Given the description of an element on the screen output the (x, y) to click on. 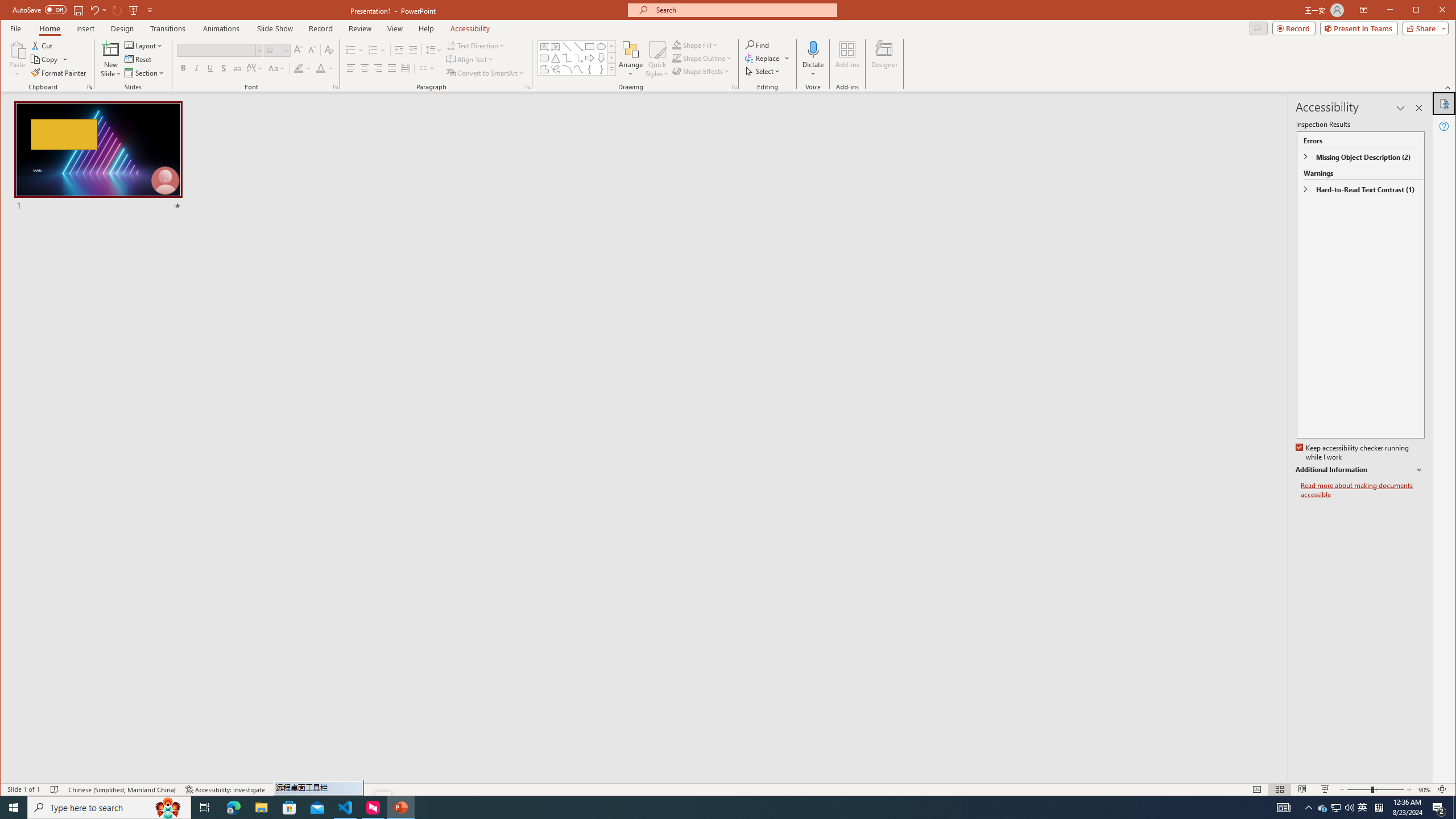
Shape Fill Orange, Accent 2 (676, 44)
Find... (758, 44)
Arc (567, 69)
Normal (1256, 789)
Search highlights icon opens search home window (167, 807)
Quick Styles (658, 59)
Microsoft search (742, 10)
Zoom (1374, 789)
Zoom In (1408, 789)
Close pane (1418, 107)
Arrange (631, 59)
System (10, 10)
Text Box (544, 46)
Shape Fill (695, 44)
Paste (17, 48)
